Given the description of an element on the screen output the (x, y) to click on. 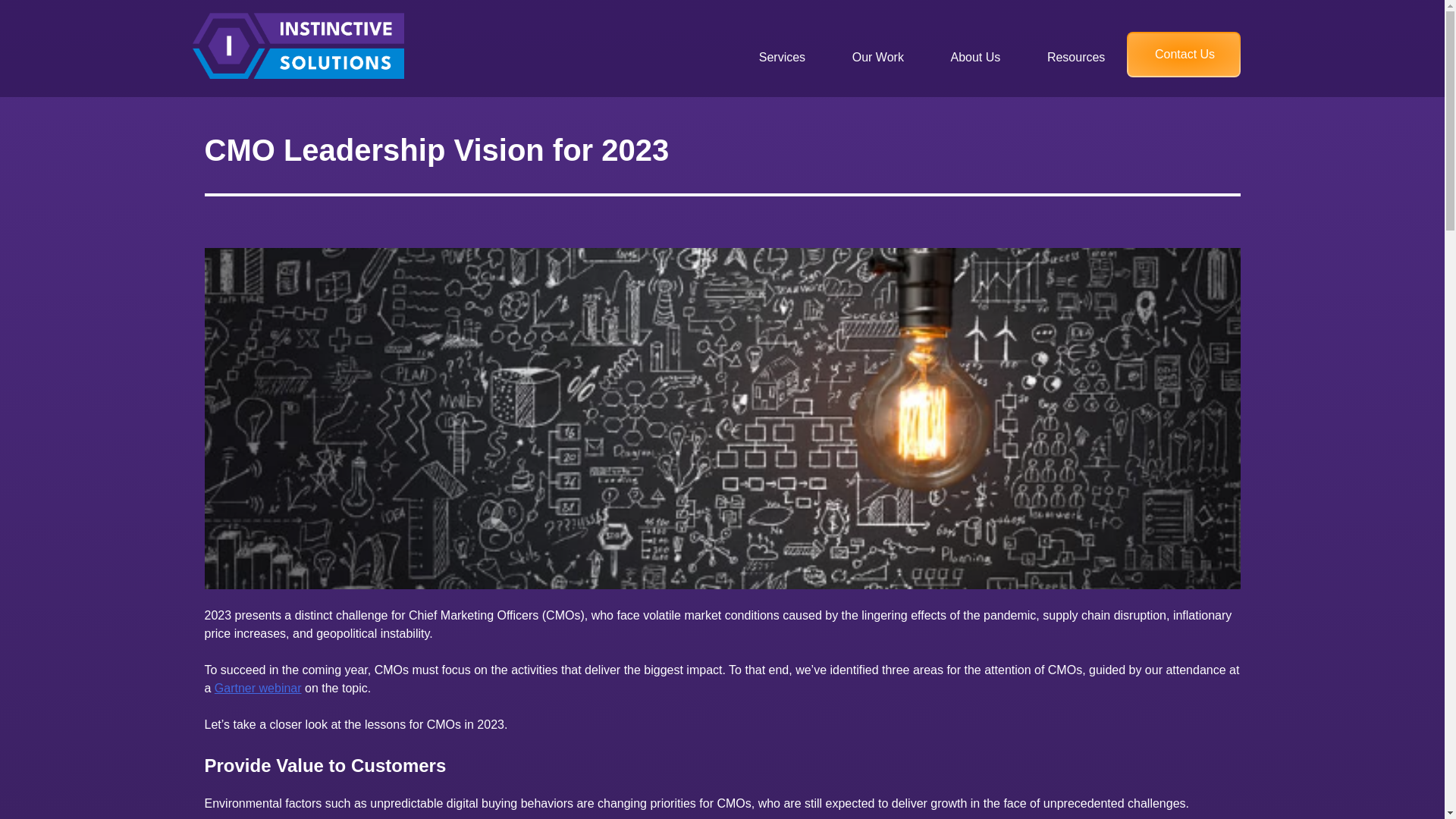
About Us (975, 57)
Gartner webinar (257, 687)
Our Work (877, 57)
Resources (1075, 57)
Contact Us (1184, 54)
Services (781, 57)
